Given the description of an element on the screen output the (x, y) to click on. 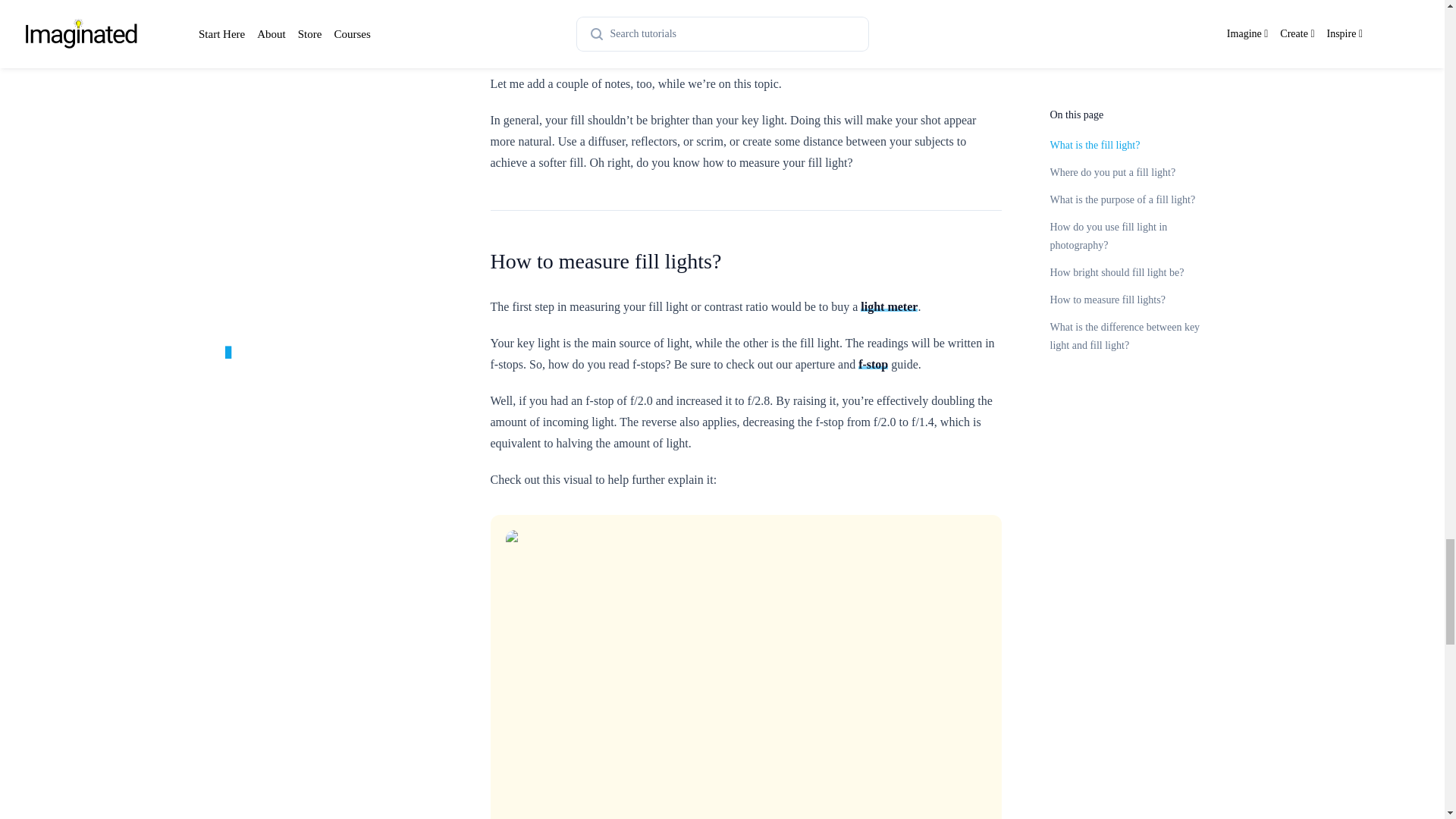
f-stop (873, 364)
light meter (888, 306)
